Given the description of an element on the screen output the (x, y) to click on. 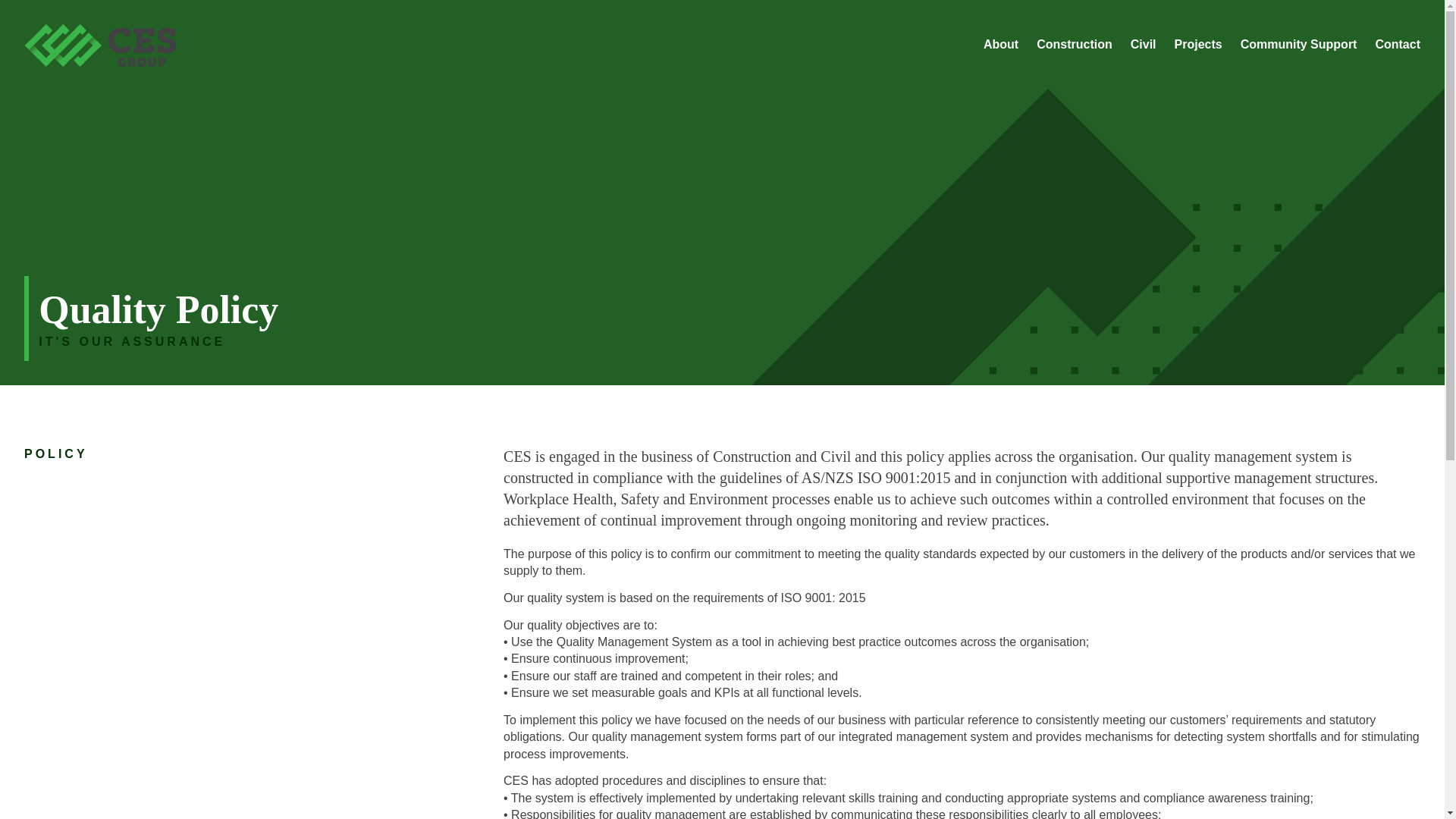
Community Support (1298, 43)
Construction (1074, 43)
Projects (1198, 43)
About (1000, 43)
Civil (1143, 43)
Contact (1397, 43)
CES Group NQ Pty Ltd (100, 62)
